Given the description of an element on the screen output the (x, y) to click on. 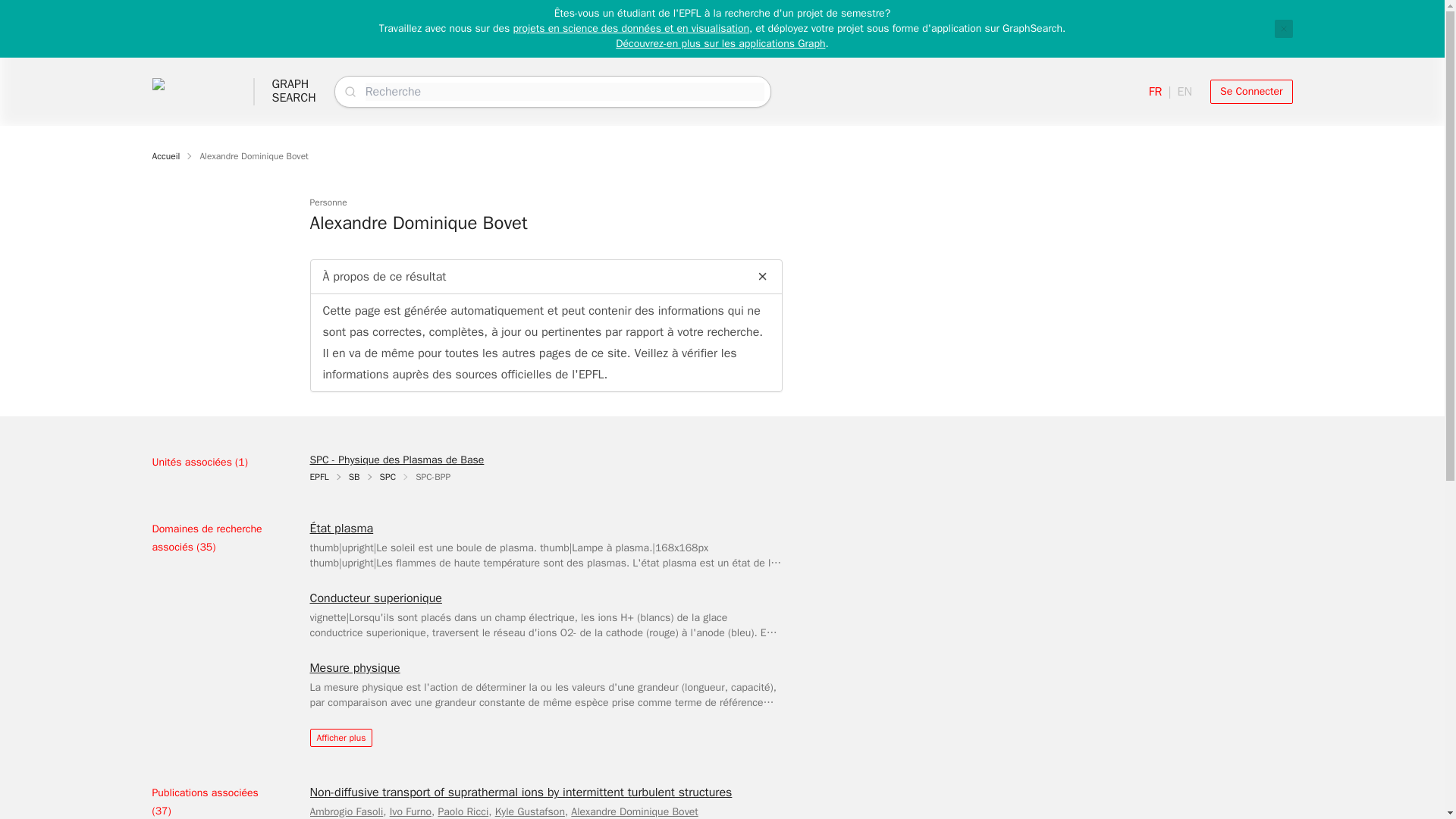
Afficher plus (340, 737)
Conducteur superionique (374, 597)
EN (1184, 91)
SPC - Physique des Plasmas de Base (395, 459)
Mesure physique (353, 668)
Se Connecter (1250, 91)
Ambrogio Fasoli (345, 811)
Close notification (1283, 28)
Paolo Ricci (462, 811)
EPFL (318, 476)
Accueil (292, 90)
Alexandre Dominique Bovet (165, 155)
SB (633, 811)
